Given the description of an element on the screen output the (x, y) to click on. 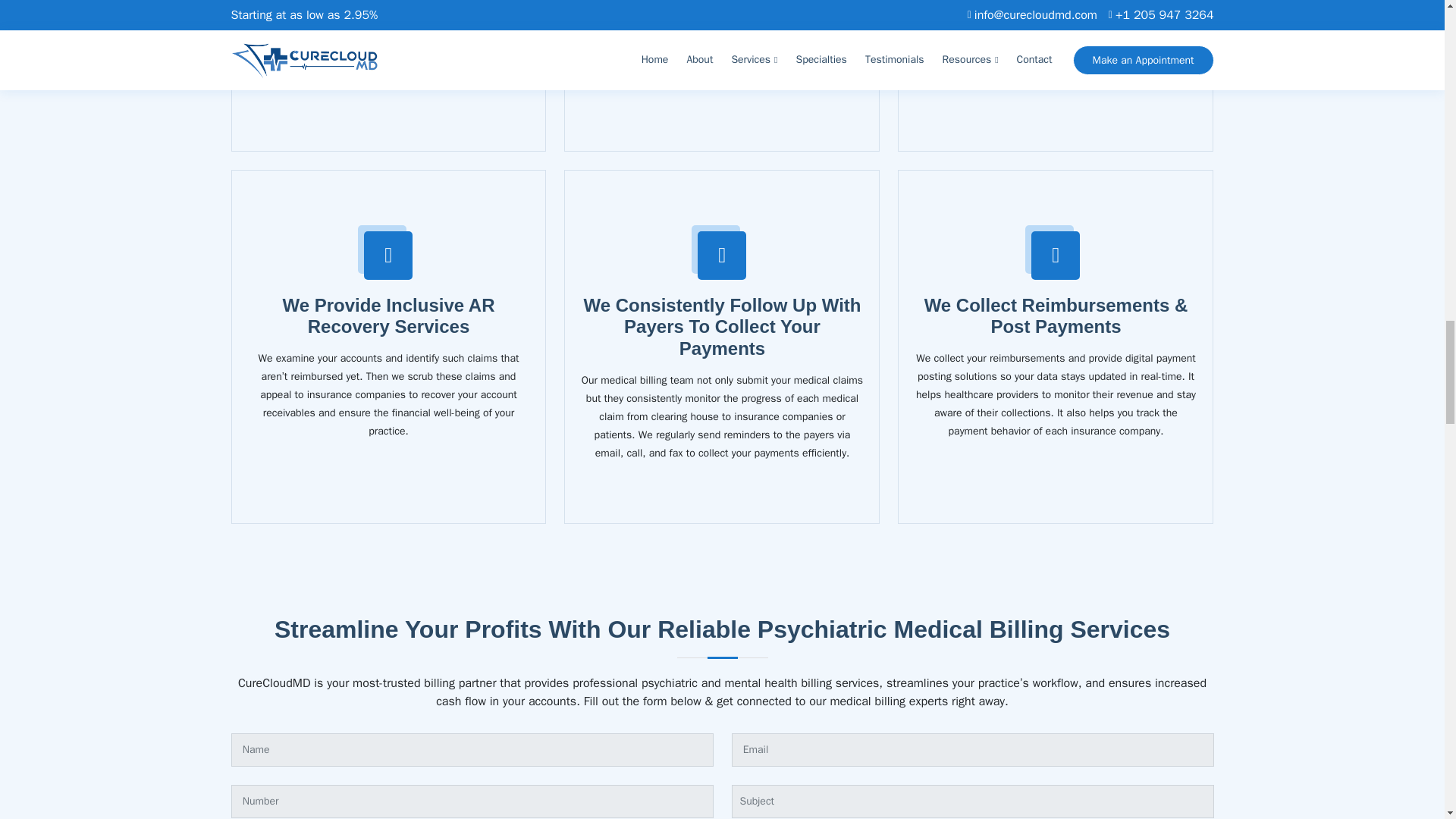
We Provide Inclusive AR Recovery Services (388, 315)
